Given the description of an element on the screen output the (x, y) to click on. 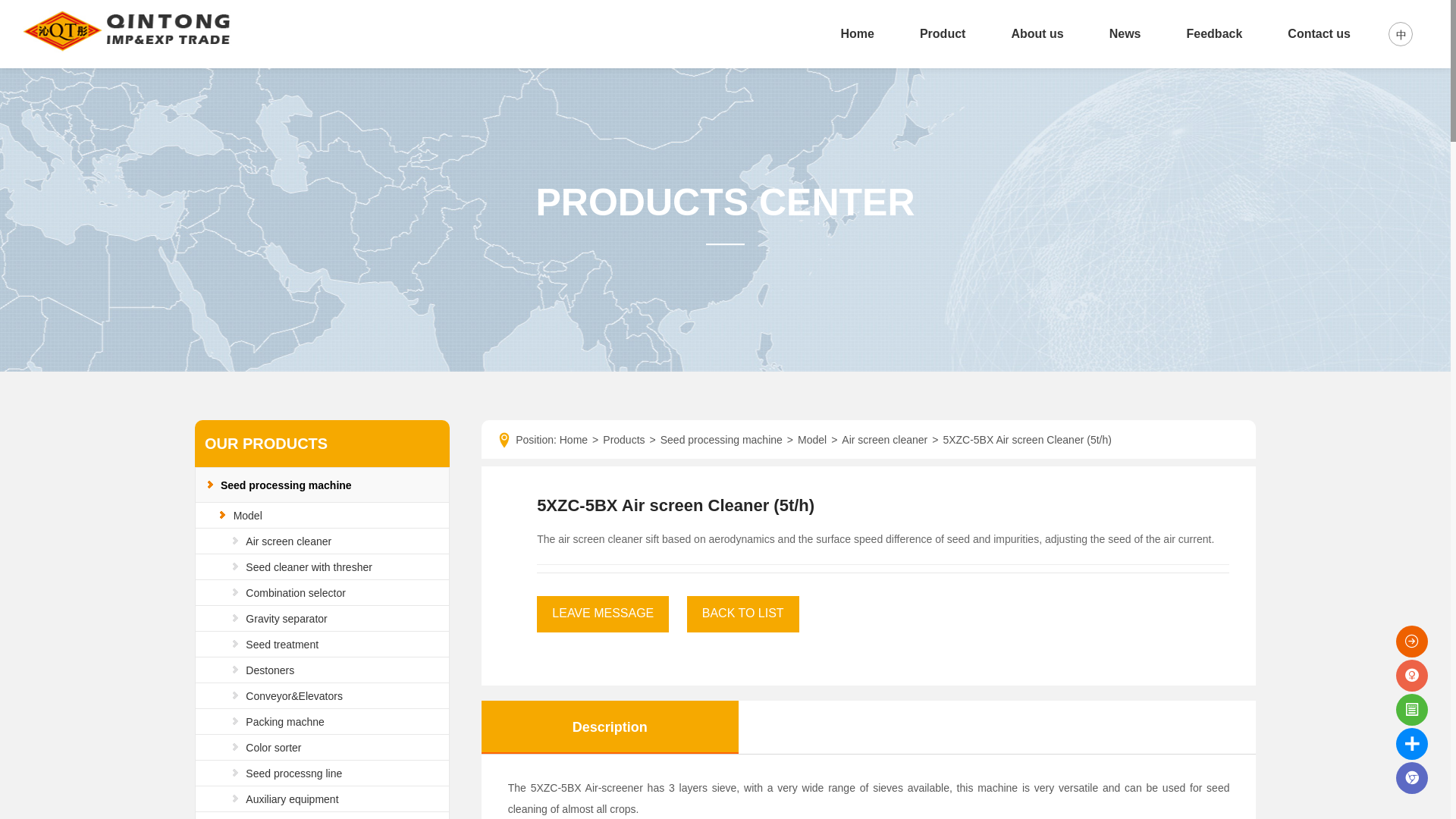
Color sorter (273, 747)
Seed processng line (294, 773)
Air screen cleaner (288, 541)
Seed processing machine (286, 485)
Destoners (270, 670)
Combination selector (296, 592)
Gravity separator (286, 618)
Seed cleaner with thresher (309, 567)
Contact us (1319, 33)
Auxiliary equipment (291, 799)
